Given the description of an element on the screen output the (x, y) to click on. 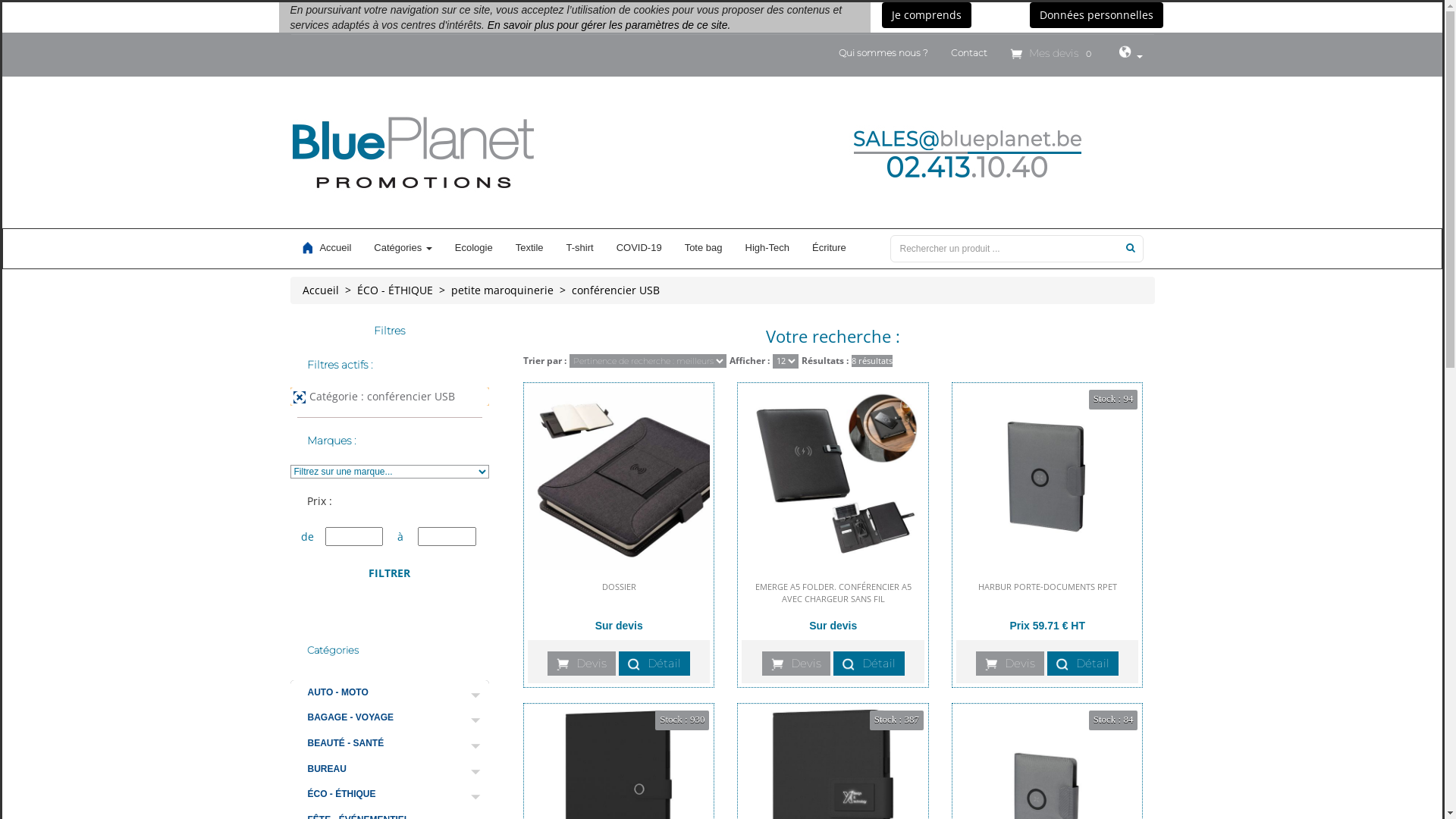
Rechercher Element type: hover (1129, 247)
High-Tech Element type: text (767, 247)
COVID-19 Element type: text (639, 247)
petite maroquinerie Element type: text (501, 289)
Ecologie Element type: text (473, 247)
Contact Element type: text (968, 53)
AUTO - MOTO Element type: text (390, 692)
Je comprends Element type: text (925, 15)
Harbur Porte-documents RPET Element type: hover (1047, 477)
Textile Element type: text (529, 247)
FILTRER Element type: text (389, 572)
Mes devis 0 Element type: text (1052, 53)
BUREAU Element type: text (390, 768)
Qui sommes nous ? Element type: text (883, 53)
Tote bag Element type: text (703, 247)
Devis Element type: text (581, 663)
BAGAGE - VOYAGE Element type: text (390, 717)
HARBUR PORTE-DOCUMENTS RPET Element type: text (1047, 594)
Accueil Element type: text (325, 247)
T-shirt Element type: text (580, 247)
Langues (FR) Element type: text (1130, 54)
Dossier Element type: hover (618, 477)
Accueil Element type: text (319, 289)
DOSSIER Element type: text (619, 594)
Devis Element type: text (796, 663)
Devis Element type: text (1009, 663)
